Given the description of an element on the screen output the (x, y) to click on. 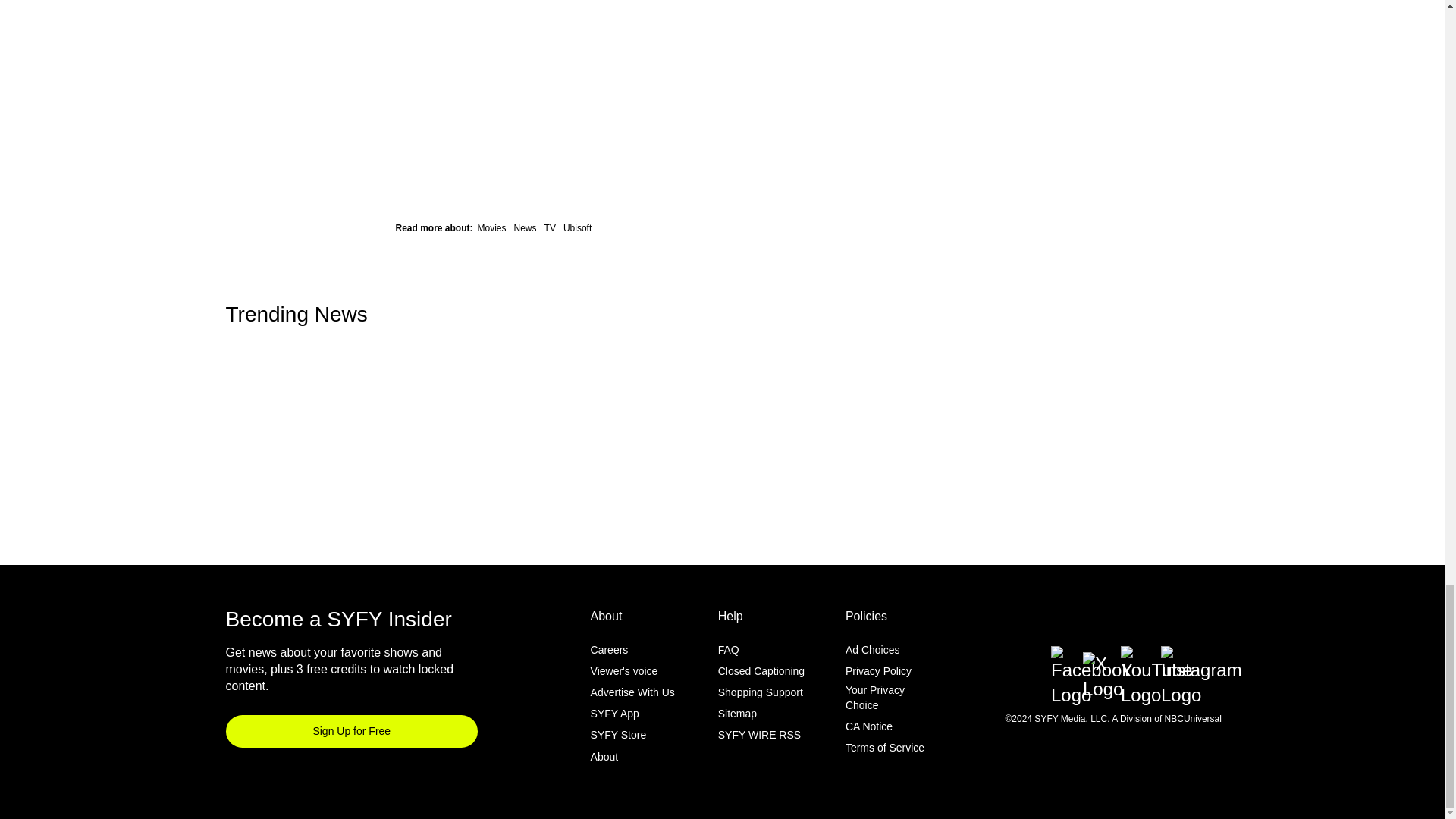
Advertise With Us (633, 692)
TV (550, 227)
Movies (491, 227)
News (525, 227)
Ubisoft (577, 227)
